Given the description of an element on the screen output the (x, y) to click on. 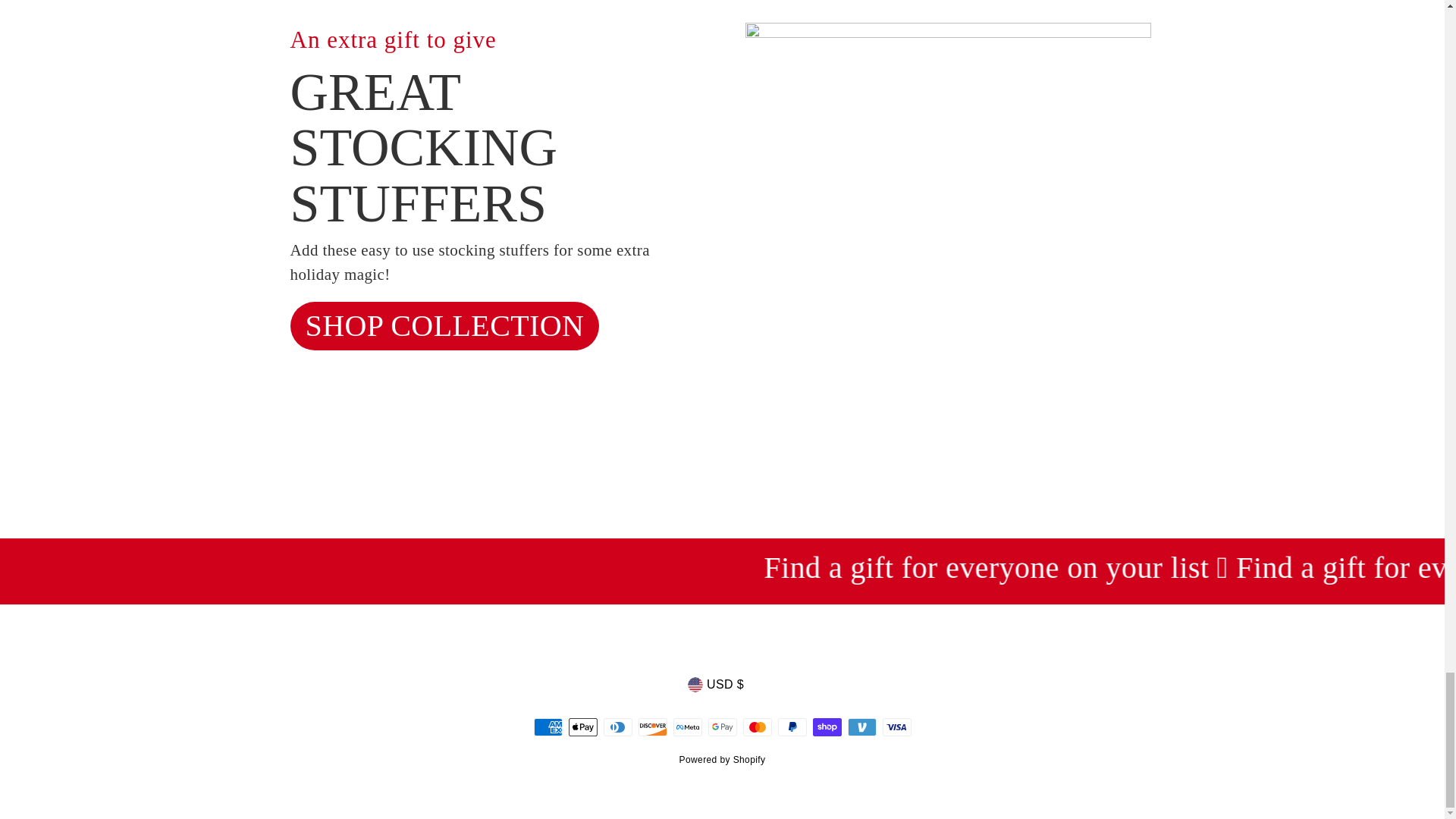
Shop Pay (826, 727)
Meta Pay (686, 727)
Visa (896, 727)
Mastercard (756, 727)
Google Pay (721, 727)
Apple Pay (582, 727)
Discover (652, 727)
American Express (548, 727)
Venmo (861, 727)
Diners Club (617, 727)
